Given the description of an element on the screen output the (x, y) to click on. 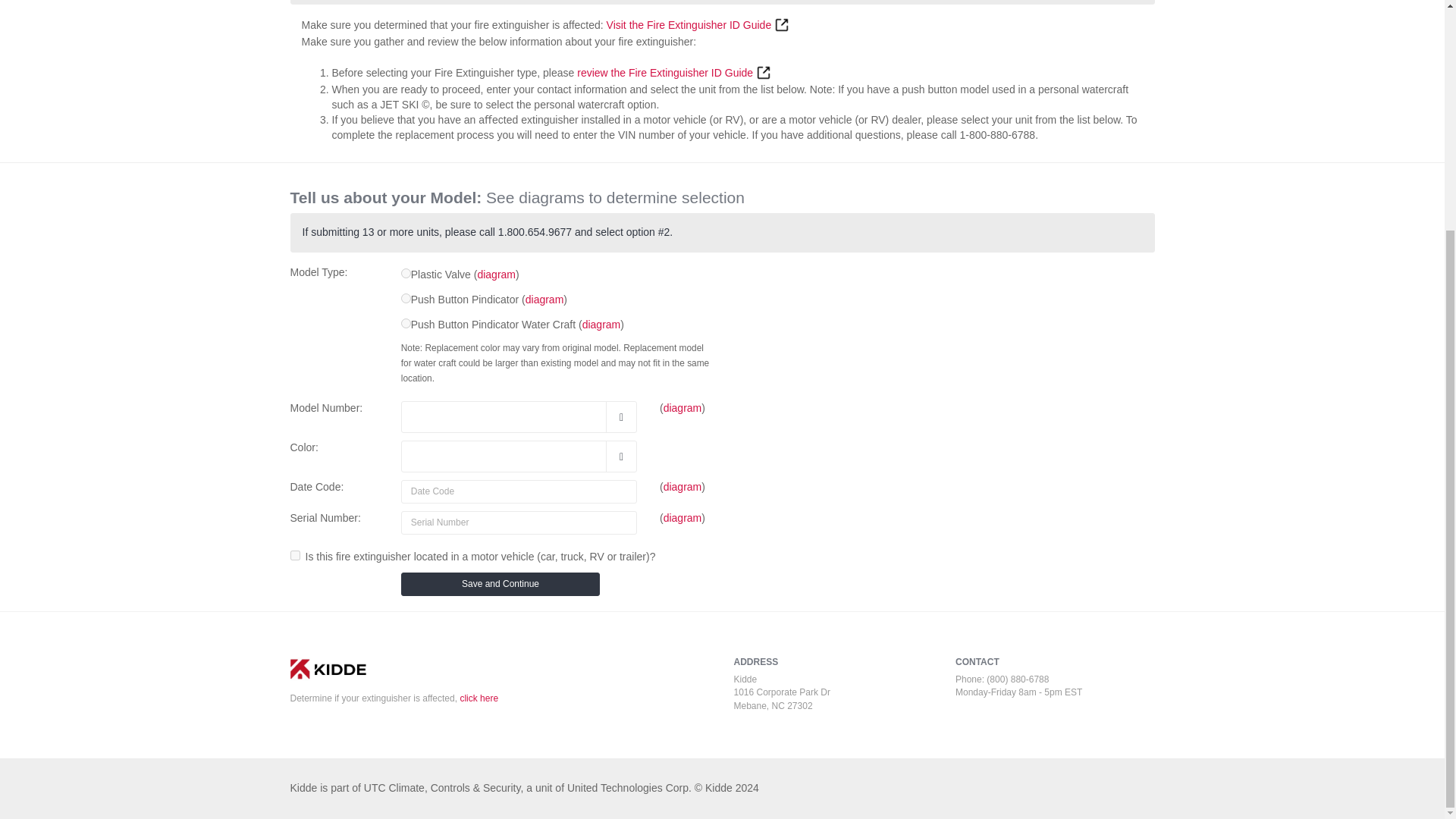
on (294, 555)
diagram (496, 274)
diagram (544, 299)
Save and Continue (500, 584)
PlasticValve (405, 273)
Visit the Fire Extinguisher ID Guide (698, 24)
review the Fire Extinguisher ID Guide (673, 72)
diagram (601, 324)
Pindicator (405, 298)
PindicatorWater (405, 323)
click here (478, 697)
diagram (682, 517)
diagram (682, 486)
